Given the description of an element on the screen output the (x, y) to click on. 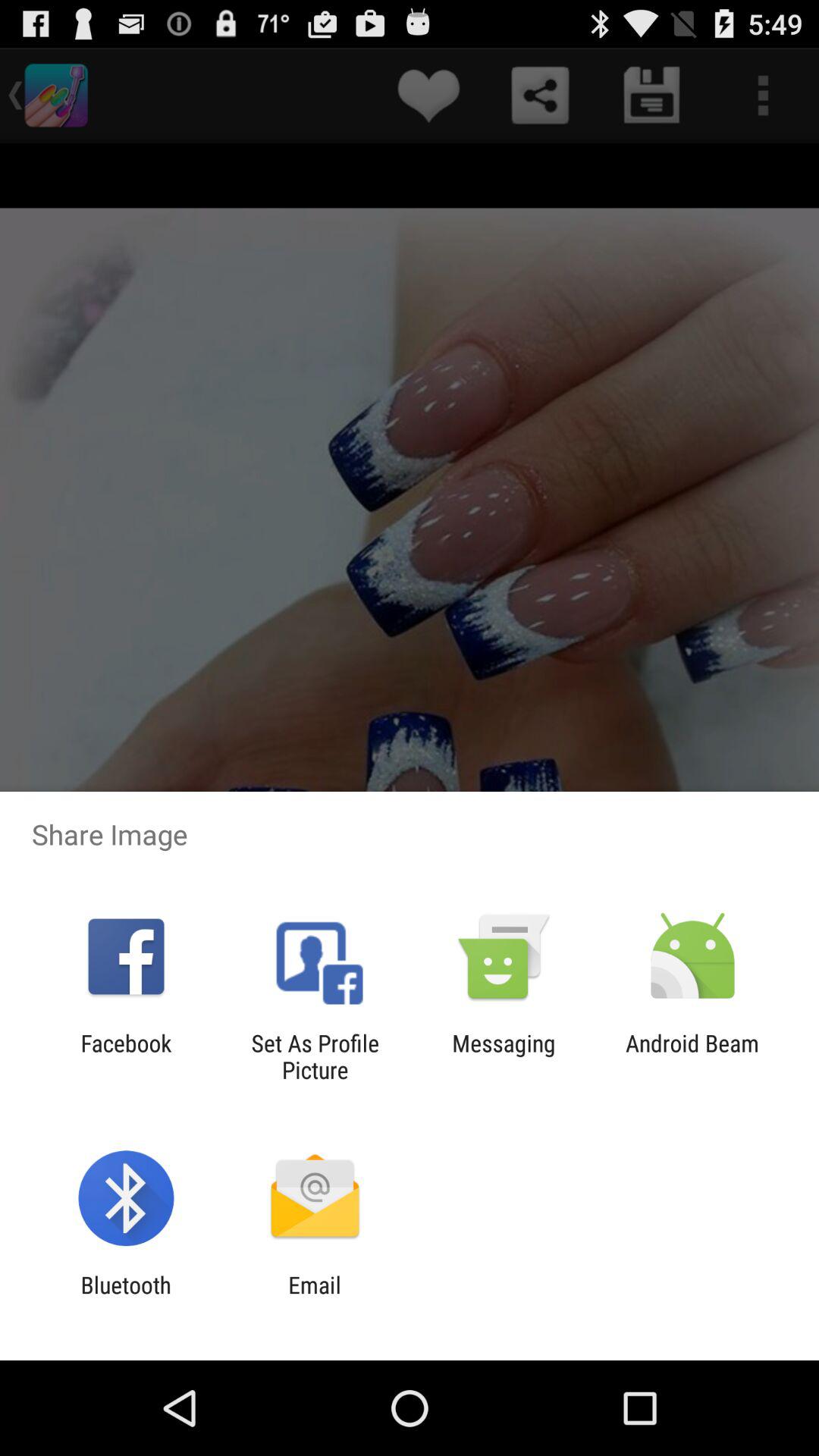
open item to the right of the bluetooth icon (314, 1298)
